Given the description of an element on the screen output the (x, y) to click on. 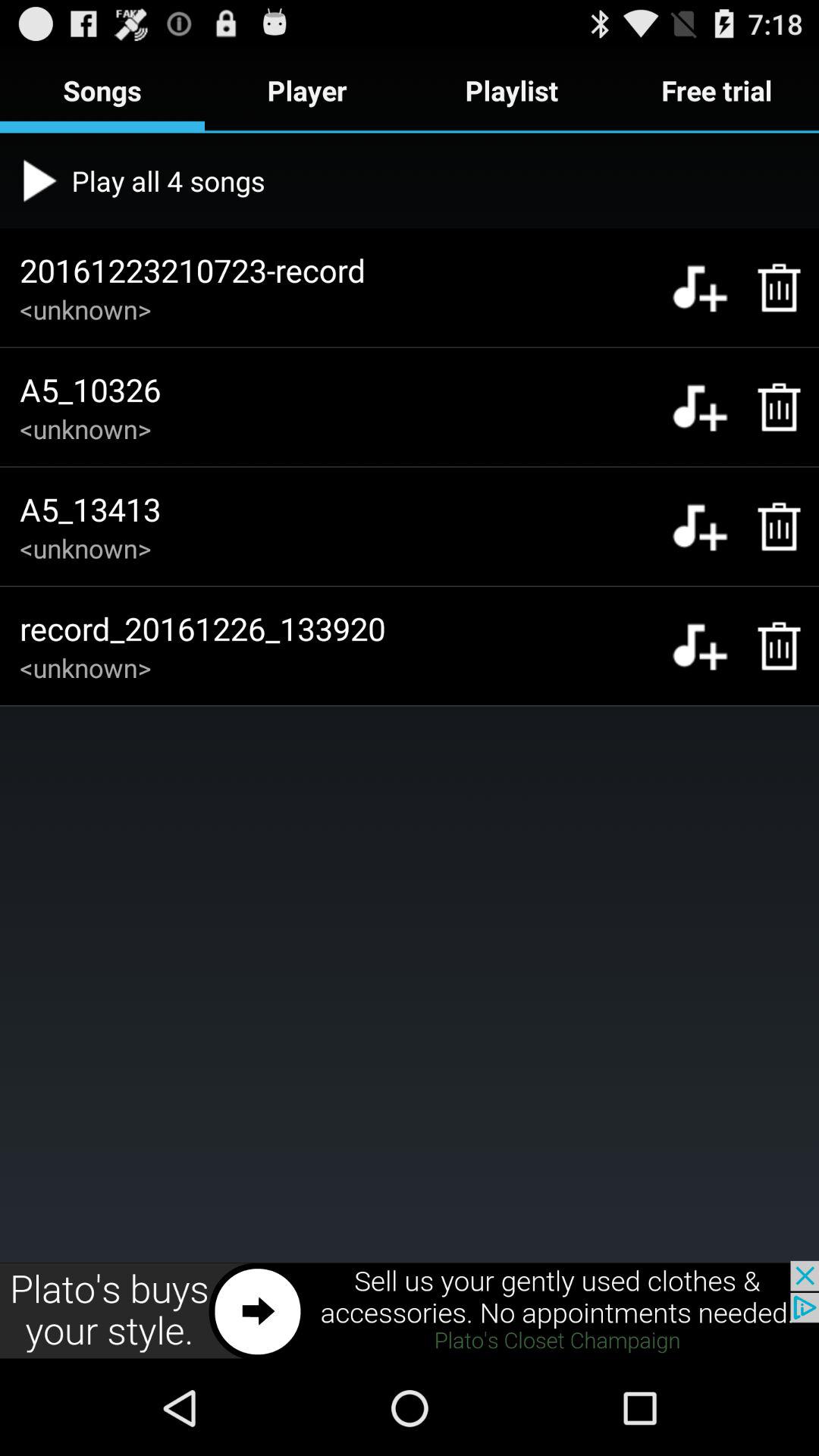
delete entry (771, 526)
